Given the description of an element on the screen output the (x, y) to click on. 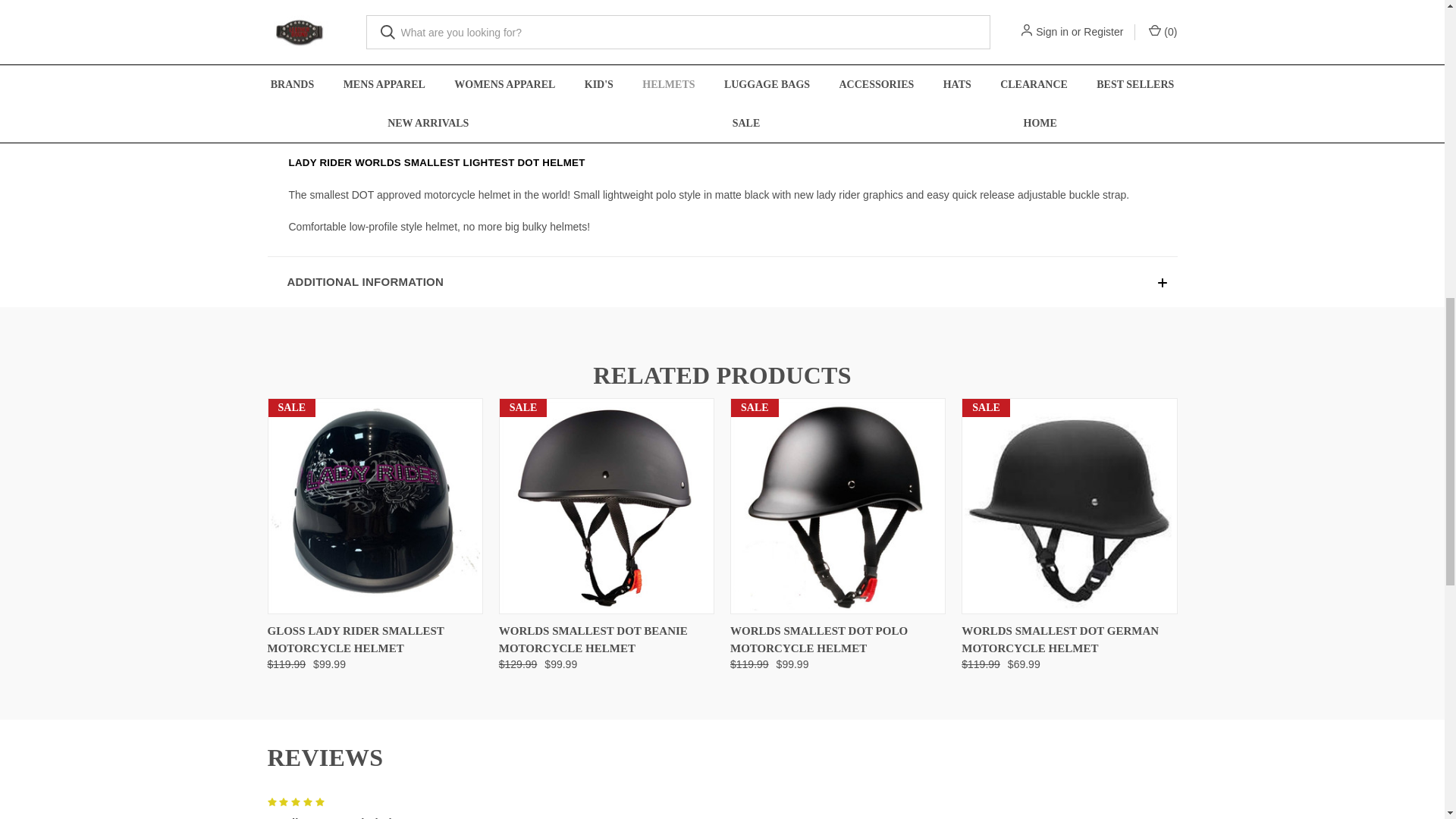
Worlds Smallest DOT Helmet: Lightest German, Matte Black (1068, 506)
Worlds Smallest DOT Helmet: Matte Black Polo, Low-Profile (837, 506)
